Given the description of an element on the screen output the (x, y) to click on. 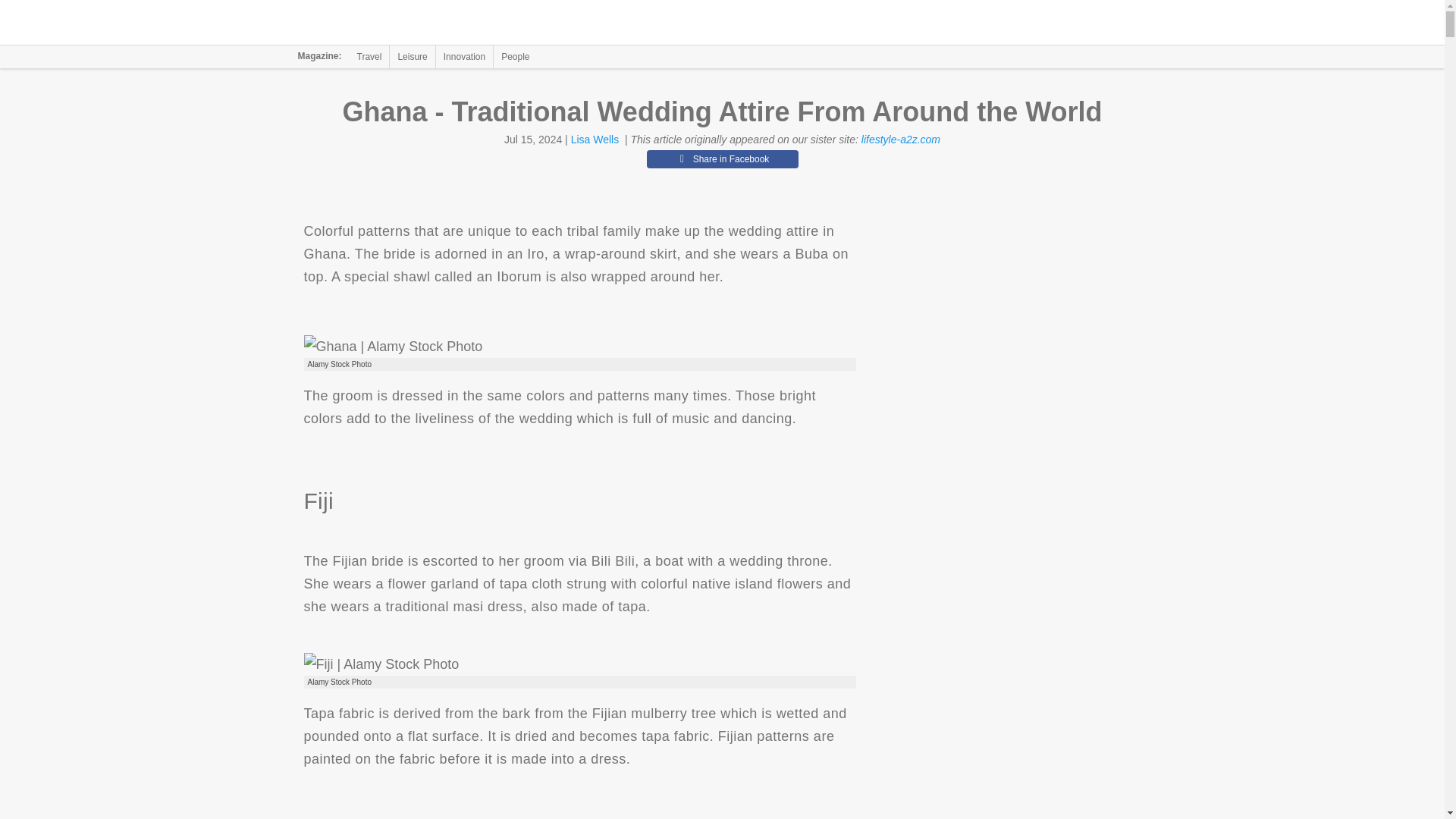
People (515, 56)
lifestyle-a2z.com (900, 139)
Lisa Wells (595, 139)
Share in Facebook (721, 158)
Travel (369, 56)
Ghana (391, 345)
The Jerusalem Post Magazine (391, 22)
Innovation (464, 56)
Leisure (411, 56)
Fiji (380, 663)
